Given the description of an element on the screen output the (x, y) to click on. 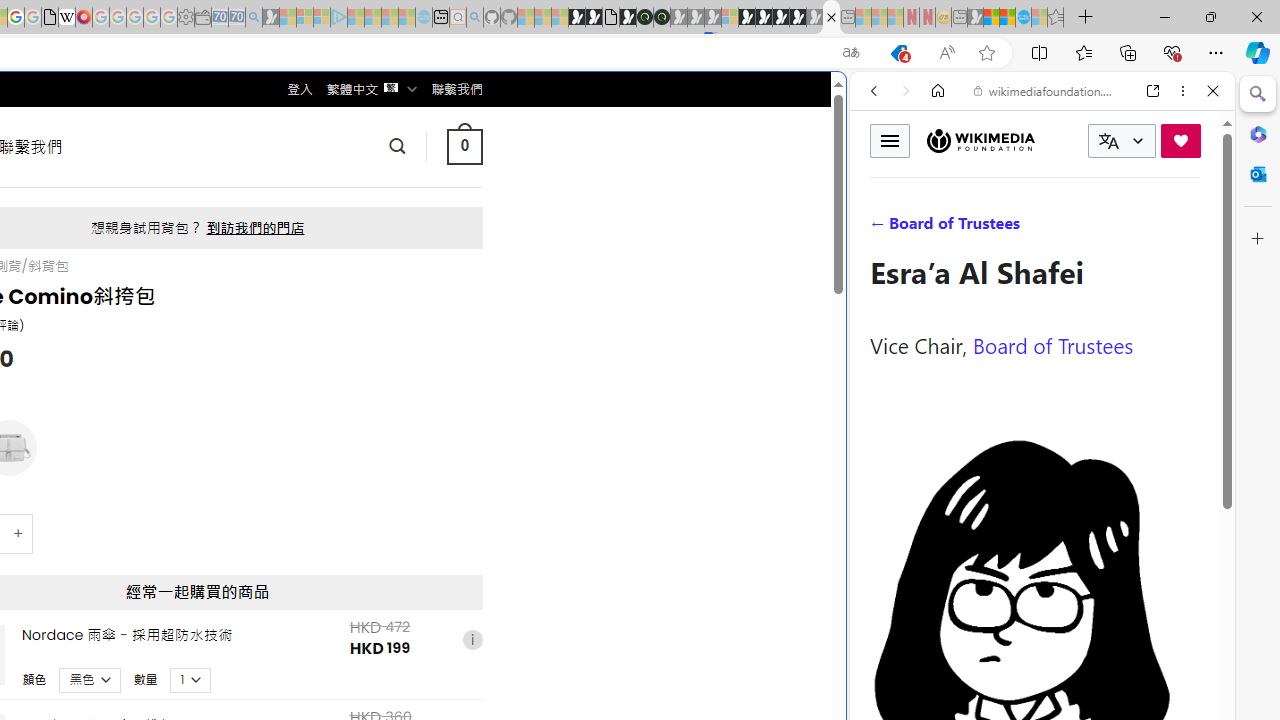
Settings - Sleeping (185, 17)
Target page - Wikipedia (66, 17)
